Given the description of an element on the screen output the (x, y) to click on. 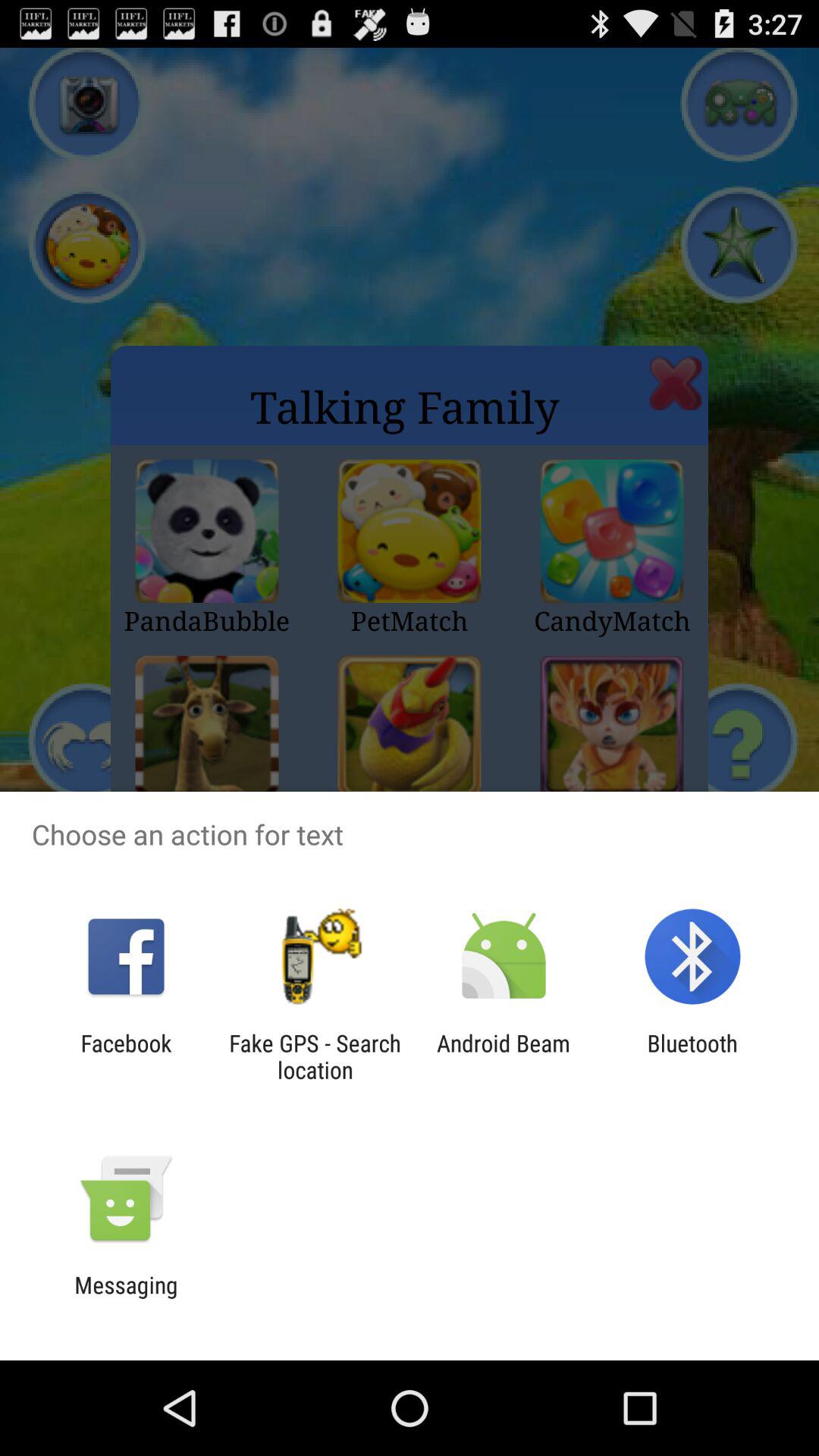
launch app next to the fake gps search (125, 1056)
